Given the description of an element on the screen output the (x, y) to click on. 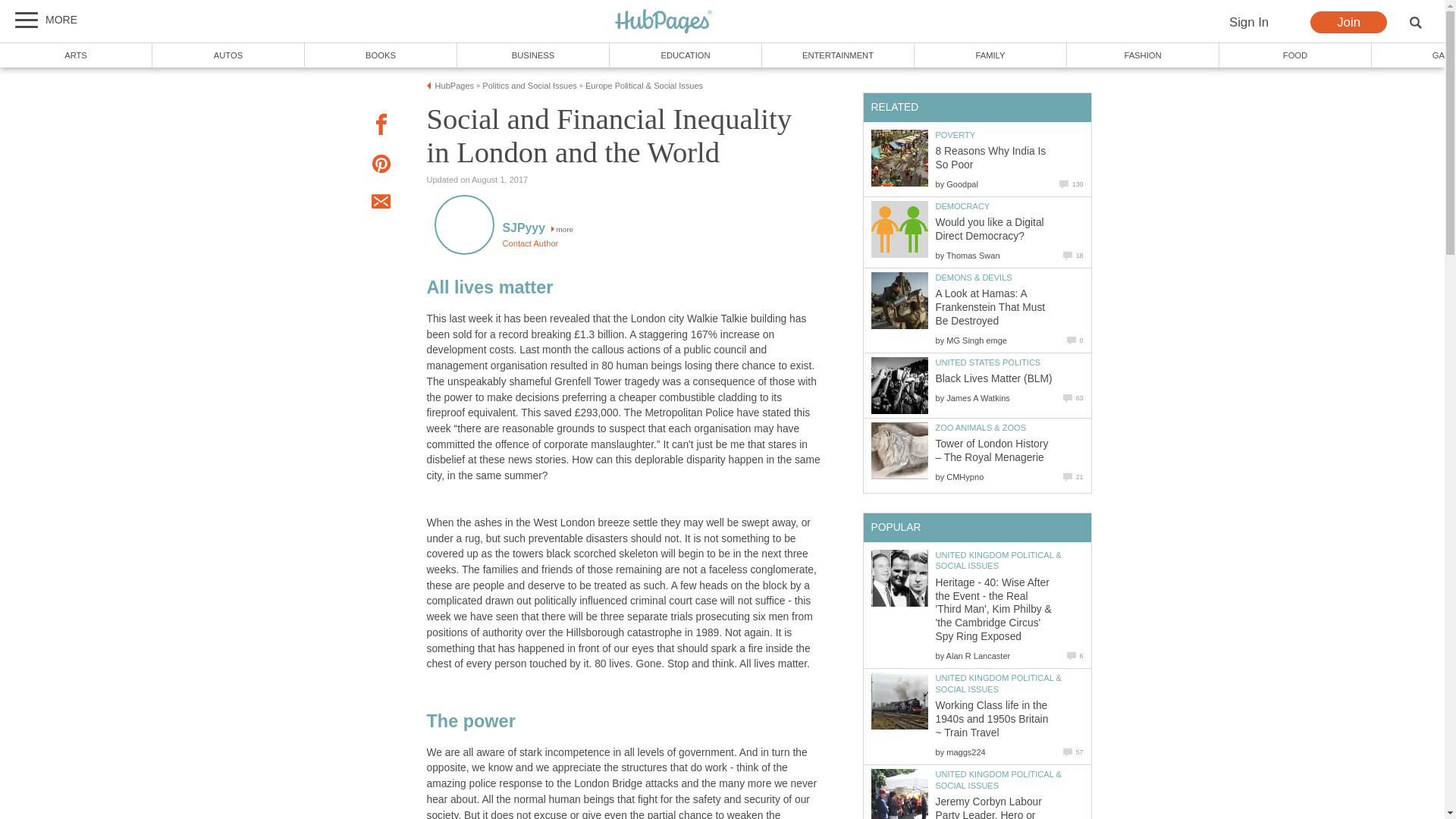
BUSINESS (533, 55)
HubPages (663, 21)
HubPages (663, 22)
HubPages (663, 22)
Email (380, 203)
A Look at Hamas: A Frankenstein That Must Be Destroyed (898, 300)
Would you like a Digital Direct Democracy? (898, 228)
POVERTY (955, 134)
FOOD (1295, 55)
FASHION (1143, 55)
AUTOS (228, 55)
SJPyyy more (537, 229)
ARTS (76, 55)
Politics and Social Issues (528, 85)
8 Reasons Why India Is So Poor (991, 157)
